Given the description of an element on the screen output the (x, y) to click on. 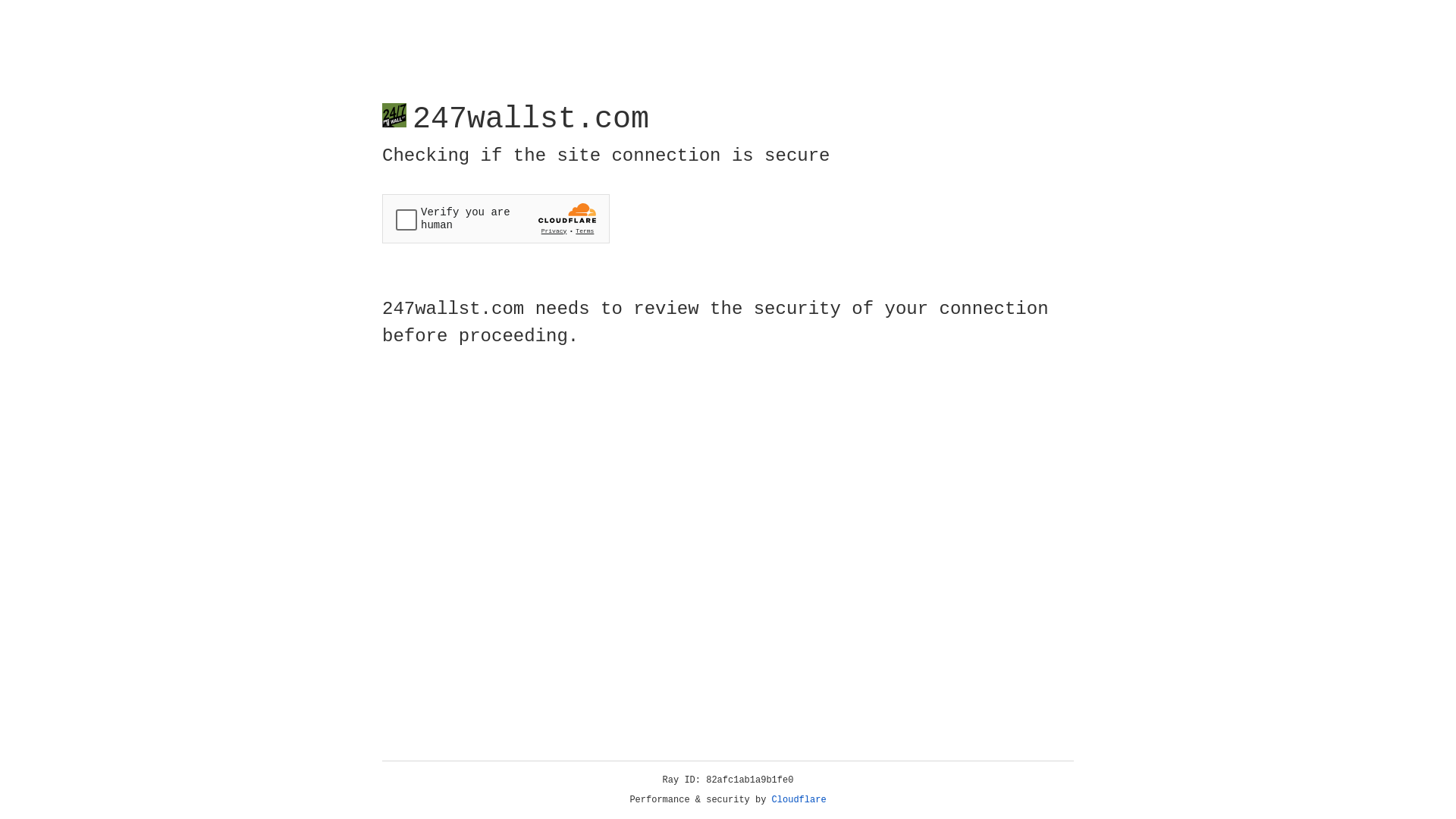
Cloudflare Element type: text (798, 799)
Widget containing a Cloudflare security challenge Element type: hover (495, 218)
